Given the description of an element on the screen output the (x, y) to click on. 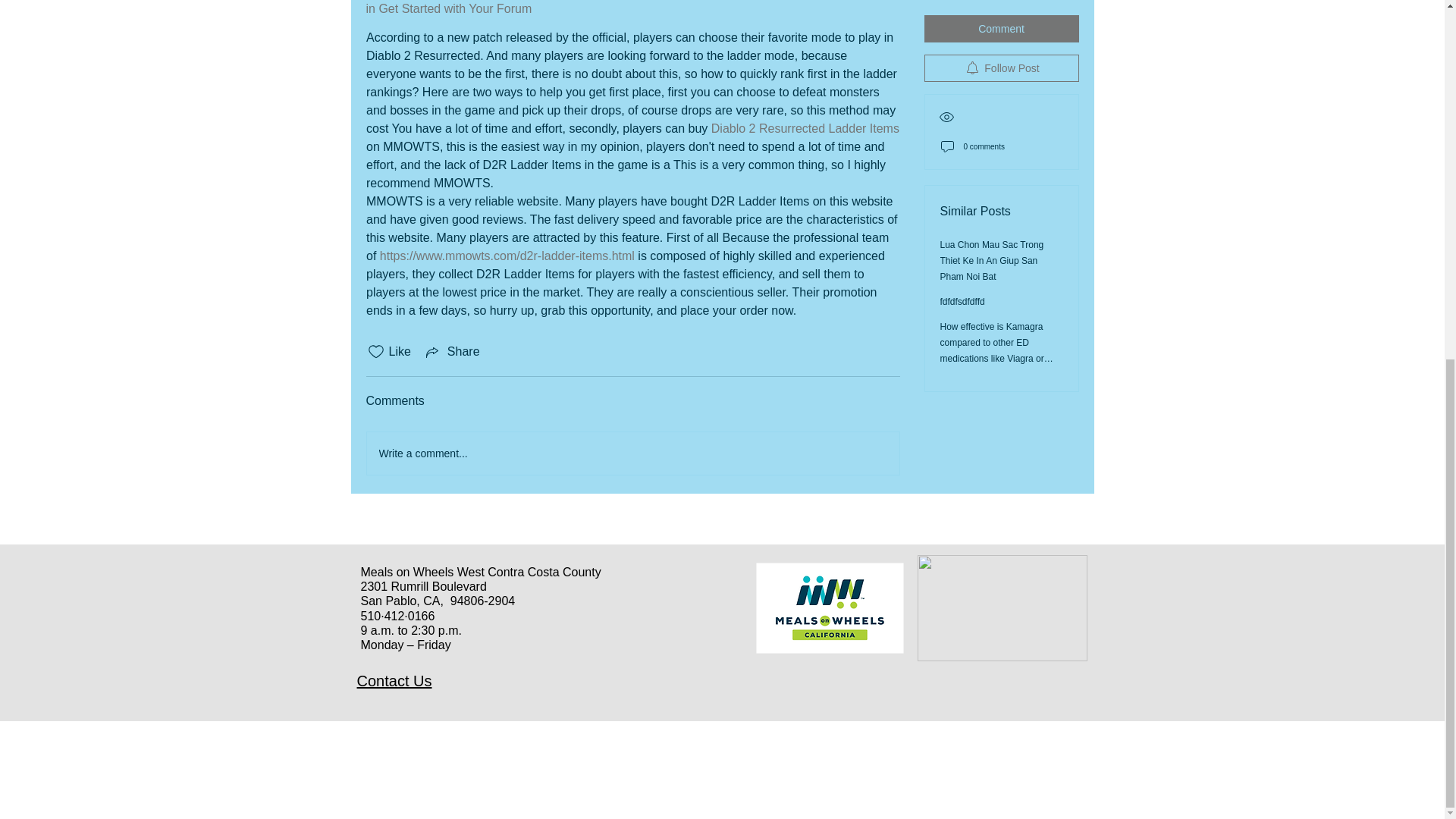
Lua Chon Mau Sac Trong Thiet Ke In An Giup San Pham Noi Bat (991, 140)
Contact Us (394, 680)
Write a comment... (632, 453)
MoW America Member (1002, 607)
Share (451, 352)
MoW California Member (828, 607)
in Get Started with Your Forum (448, 8)
fdfdfsdfdffd (962, 181)
Diablo 2 Resurrected Ladder Items (804, 128)
